Given the description of an element on the screen output the (x, y) to click on. 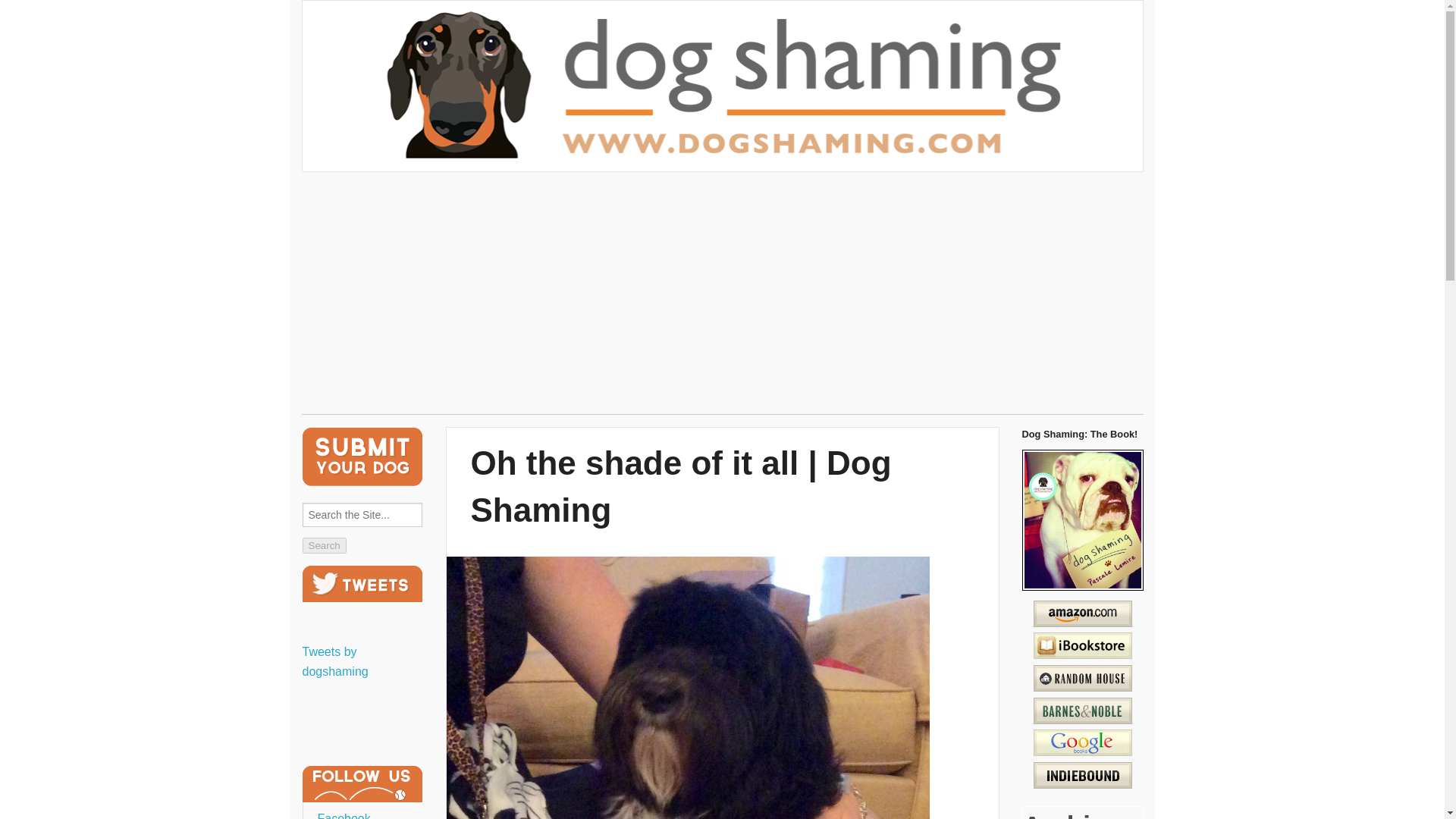
Facebook (343, 815)
Search (323, 545)
Tweets by dogshaming (334, 661)
Search (323, 545)
Advertisement (721, 295)
Submit your dog! (361, 456)
Dogshaming (721, 167)
